Given the description of an element on the screen output the (x, y) to click on. 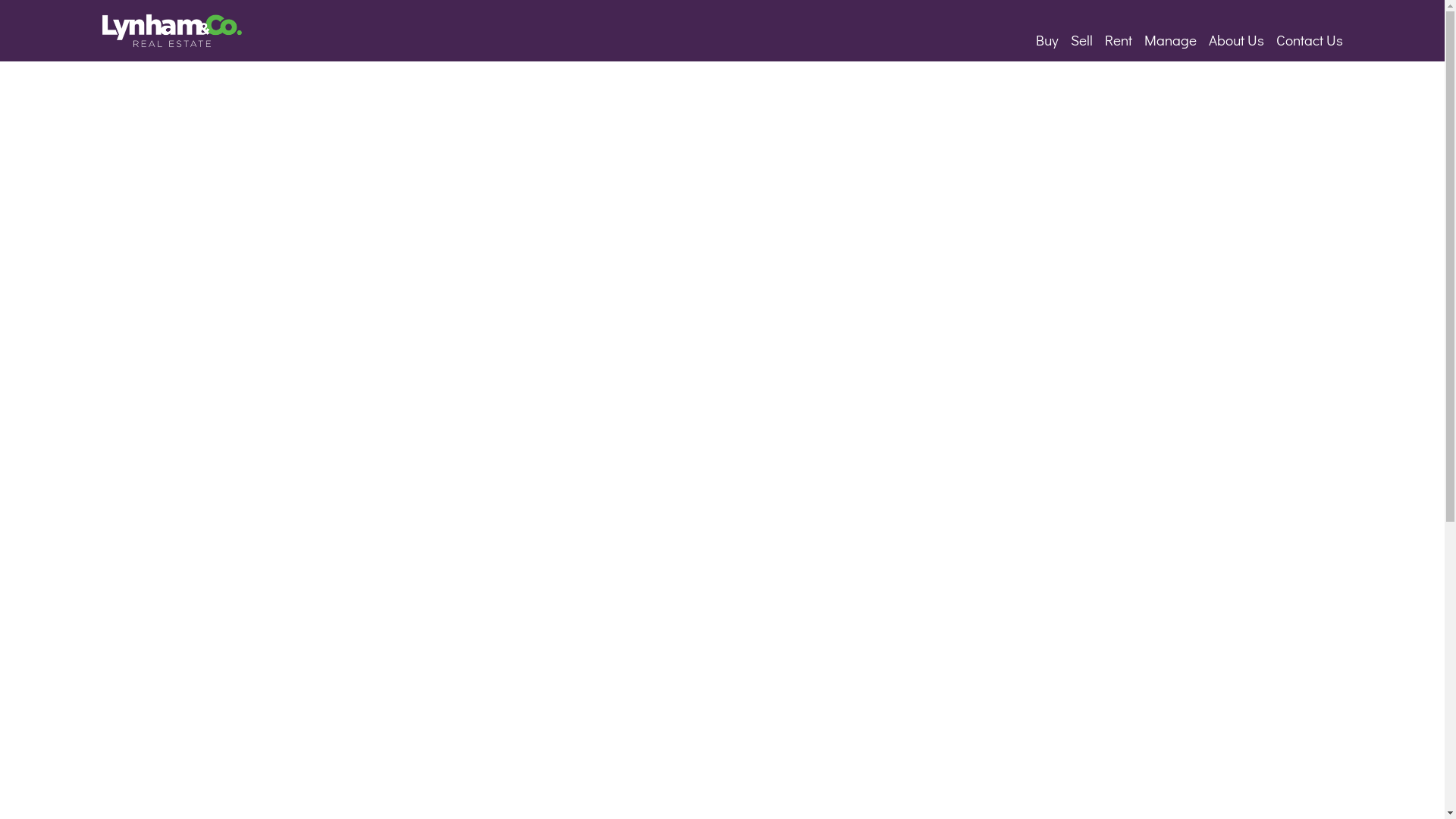
Manage Element type: text (1170, 39)
Buy Element type: text (1046, 39)
Contact Us Element type: text (1309, 39)
About Us Element type: text (1236, 39)
Sell Element type: text (1081, 39)
Rent Element type: text (1118, 39)
